Given the description of an element on the screen output the (x, y) to click on. 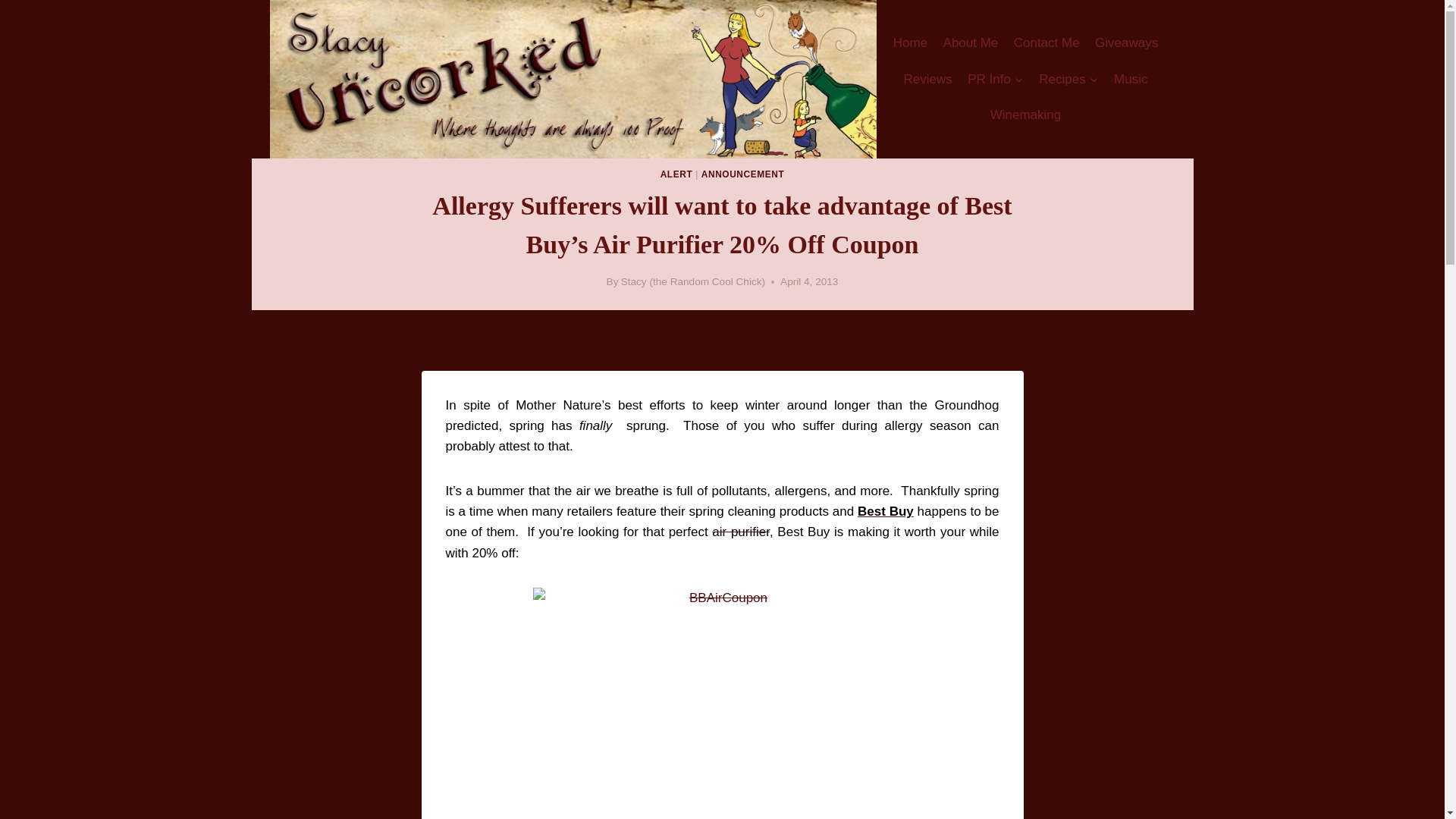
Winemaking (1025, 115)
ANNOUNCEMENT (742, 173)
About Me (970, 43)
PR Info (994, 78)
Best Buy Air Purifiers (740, 531)
Reviews (927, 78)
Recipes (1068, 78)
ALERT (677, 173)
Best Buy (885, 511)
Music (1131, 78)
